Given the description of an element on the screen output the (x, y) to click on. 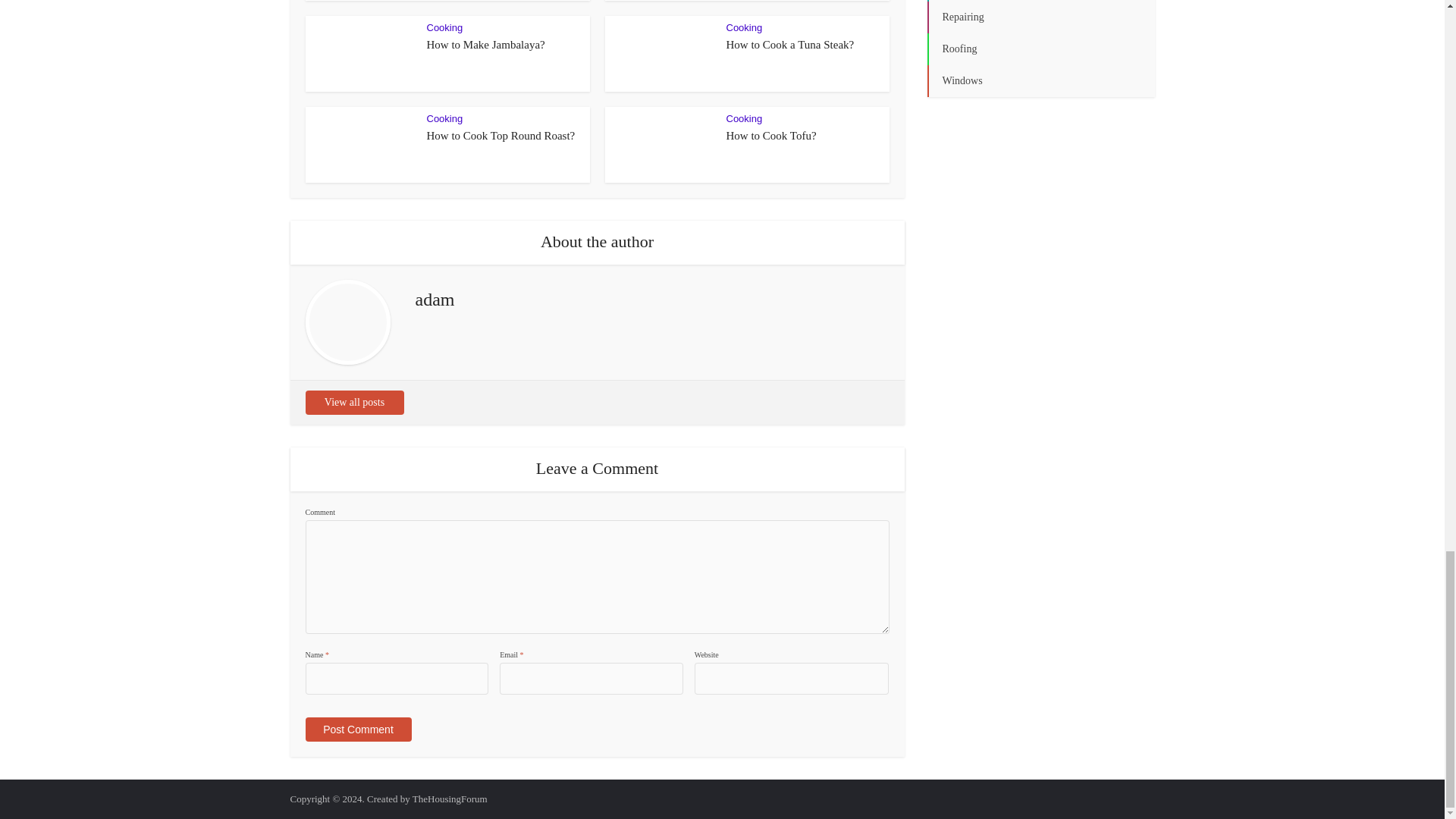
How to Cook a Tuna Steak? (790, 44)
How to Cook Top Round Roast? (500, 135)
Cooking (744, 118)
How to Cook Tofu? (771, 135)
Cooking (444, 27)
How to Cook Top Round Roast? (500, 135)
How to Make Jambalaya? (485, 44)
Post Comment (357, 729)
How to Cook a Tuna Steak? (790, 44)
How to Make Jambalaya? (485, 44)
